Given the description of an element on the screen output the (x, y) to click on. 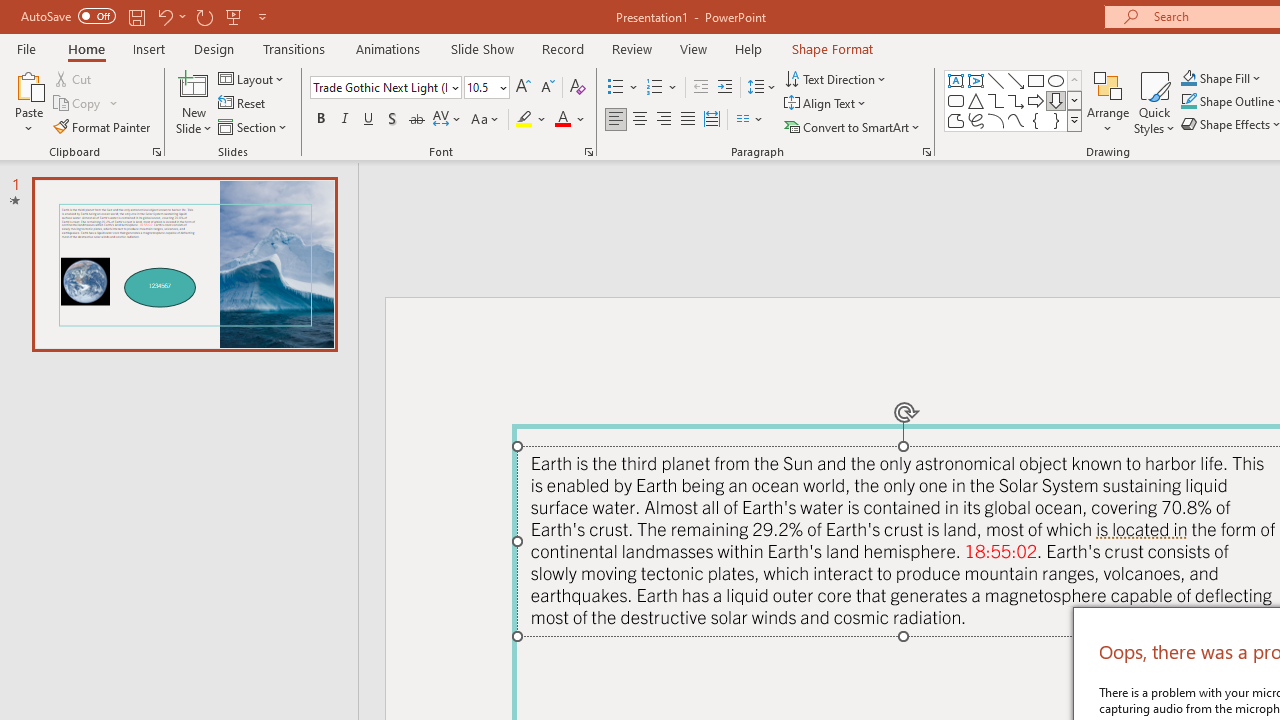
Shape Fill Aqua, Accent 2 (1188, 78)
